Given the description of an element on the screen output the (x, y) to click on. 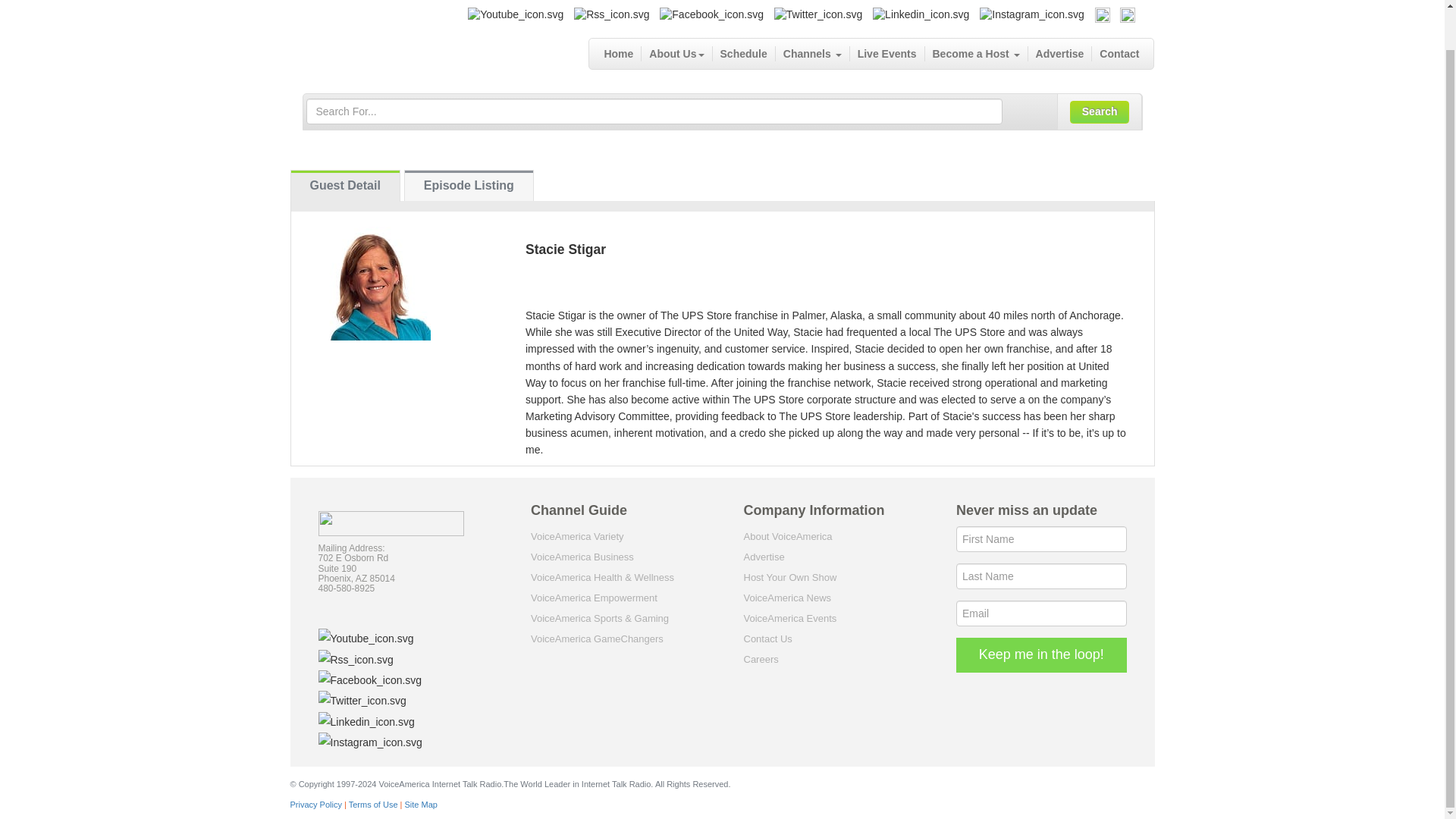
Schedule (744, 53)
Advertise (763, 556)
Live Events (887, 53)
VoiceAmerica GameChangers (597, 638)
Host Your Own Show (788, 577)
Home (618, 53)
VoiceAmerica Variety (577, 536)
About Us (676, 53)
guest-index (344, 185)
Become a Host (975, 53)
VoiceAmerica News (786, 597)
Contact (1119, 53)
VoiceAmerica Business (582, 556)
Advertise (1060, 53)
